Given the description of an element on the screen output the (x, y) to click on. 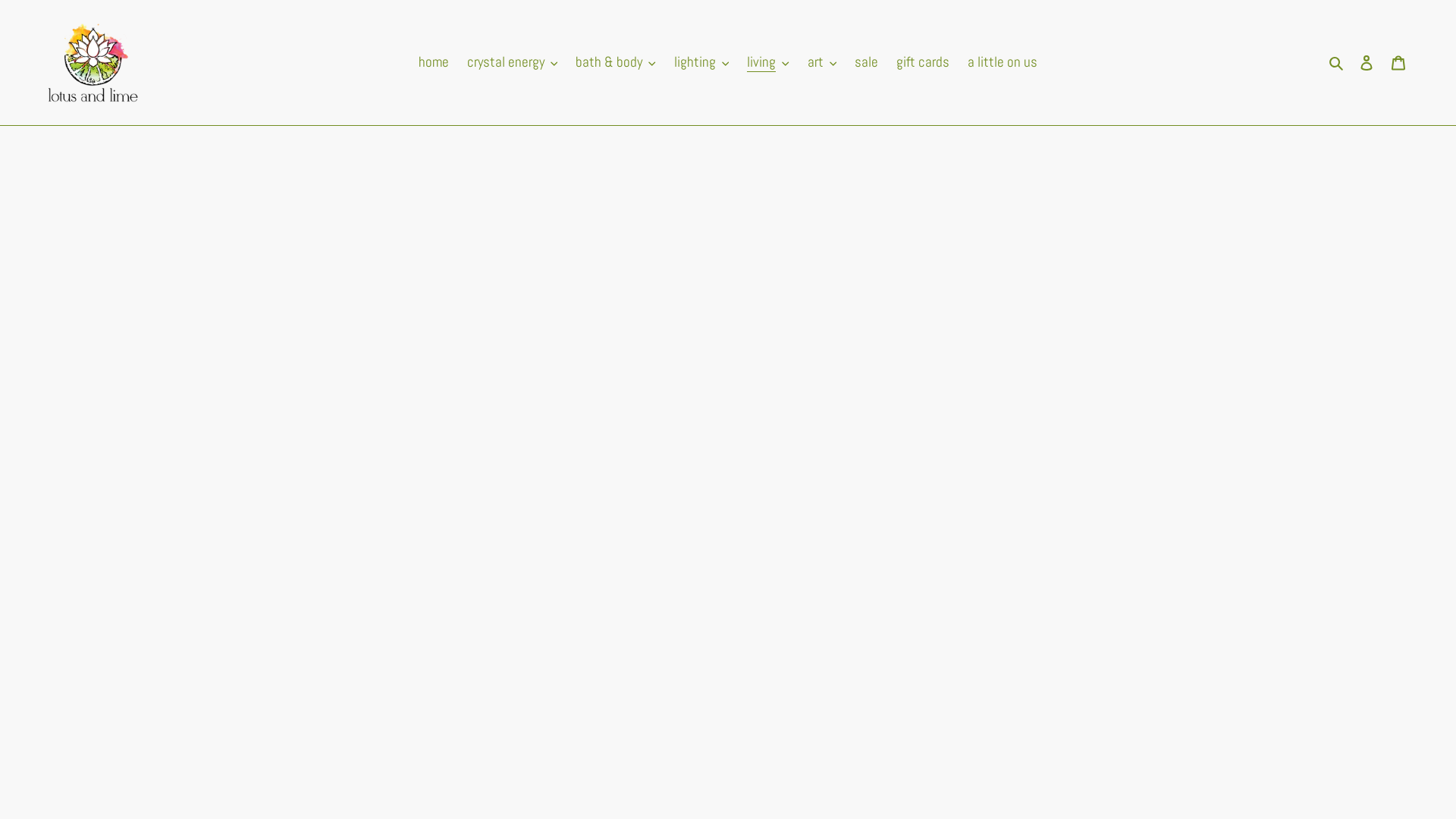
lighting Element type: text (701, 62)
crystal energy Element type: text (512, 62)
Cart Element type: text (1398, 62)
art Element type: text (822, 62)
sale Element type: text (866, 62)
Search Element type: text (1337, 62)
Log in Element type: text (1366, 62)
gift cards Element type: text (922, 62)
living Element type: text (768, 62)
bath & body Element type: text (615, 62)
home Element type: text (433, 62)
a little on us Element type: text (1002, 62)
